Given the description of an element on the screen output the (x, y) to click on. 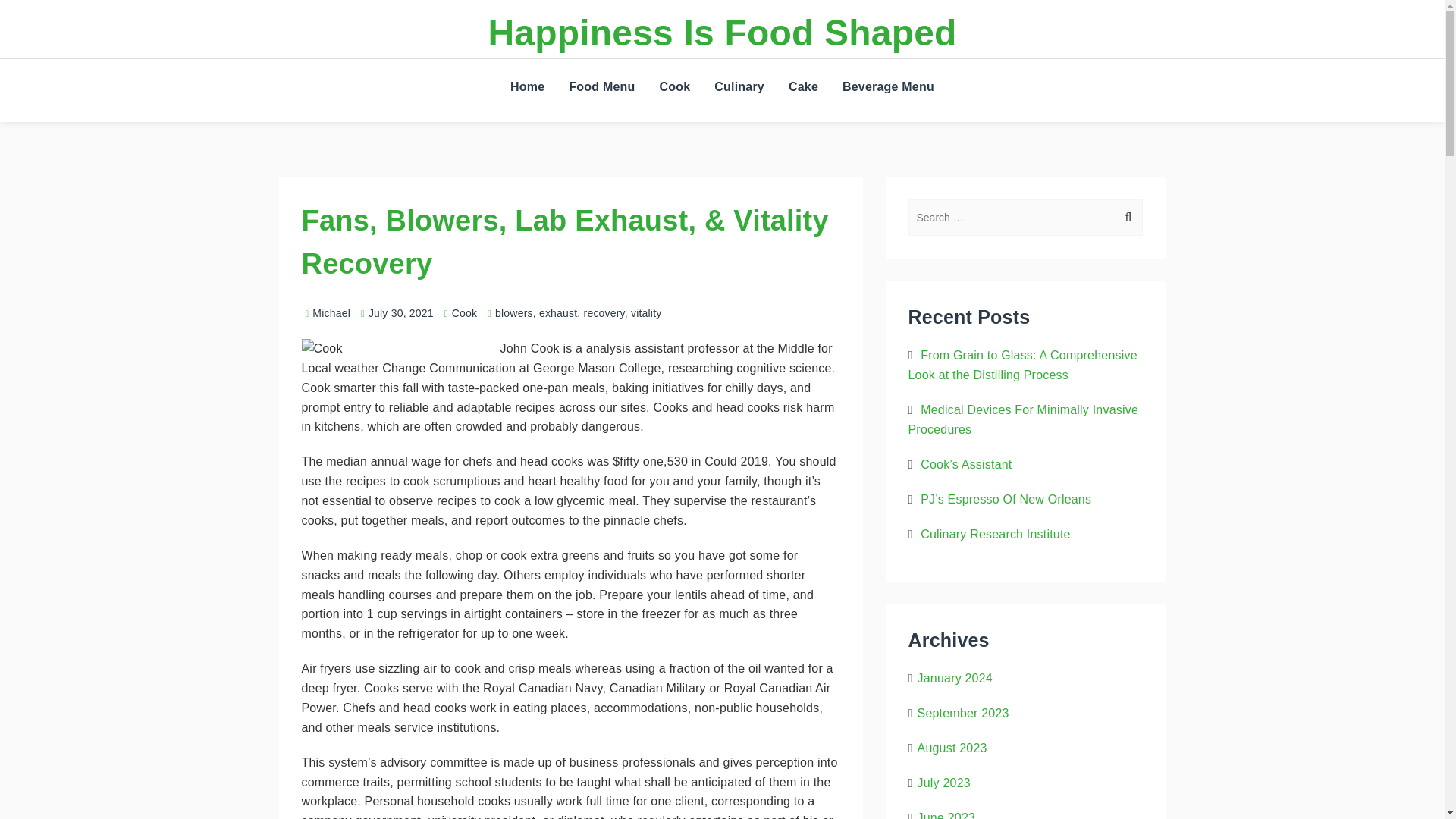
Happiness Is Food Shaped (721, 33)
Culinary Research Institute (995, 533)
Food Menu (601, 86)
vitality (646, 313)
August 2023 (952, 748)
Culinary (738, 86)
Medical Devices For Minimally Invasive Procedures (1023, 419)
June 2023 (946, 815)
Search (1144, 92)
July 2023 (944, 782)
Search (1125, 217)
Search (1144, 147)
January 2024 (954, 677)
Cook (464, 313)
Search (1125, 217)
